Given the description of an element on the screen output the (x, y) to click on. 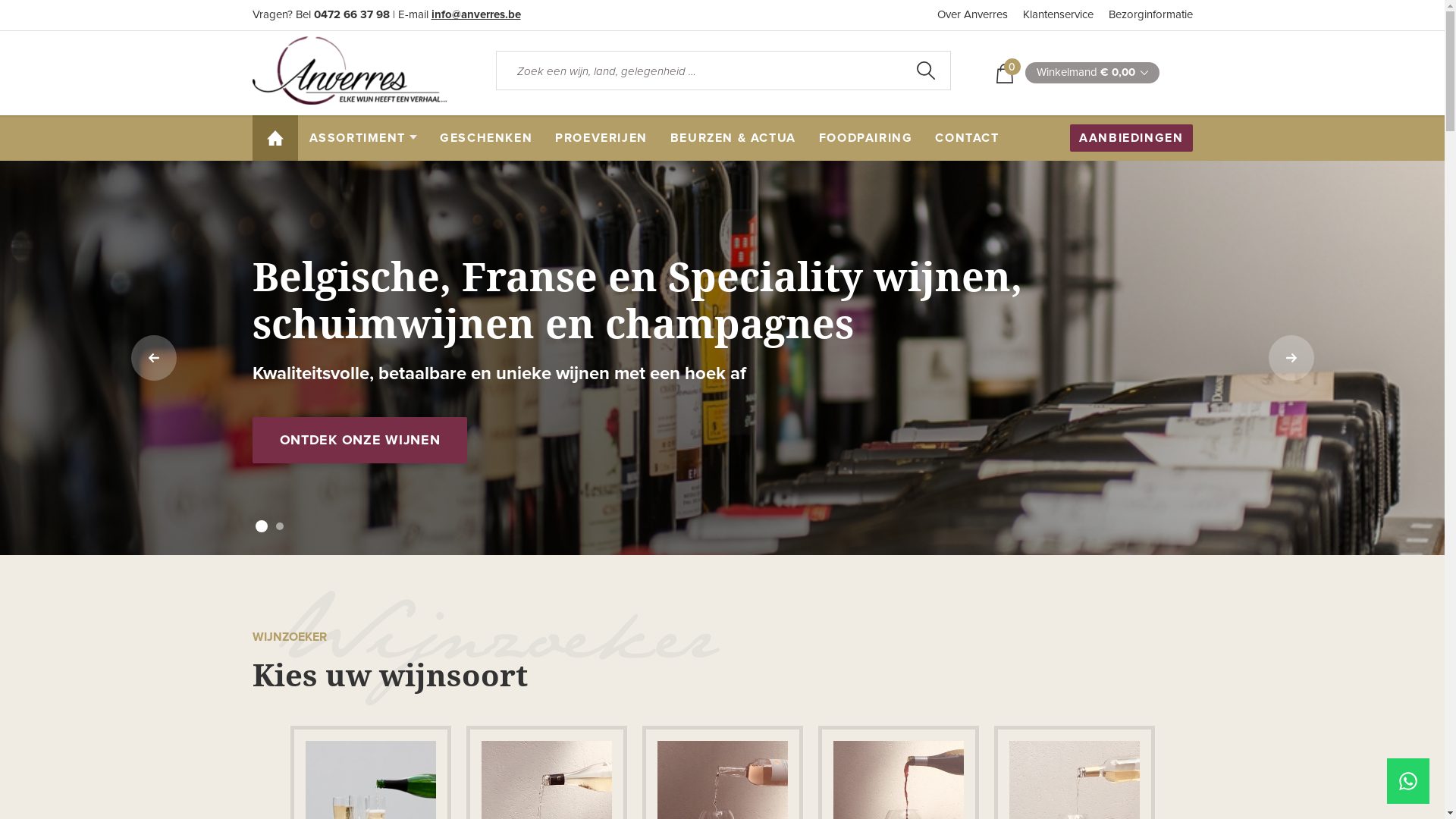
Over Anverres Element type: text (972, 15)
GESCHENKEN Element type: text (485, 137)
1 Element type: text (261, 526)
CONTACT Element type: text (966, 137)
PROEVERIJEN Element type: text (600, 137)
ONTDEK ONZE WIJNEN Element type: text (359, 440)
info@anverres.be Element type: text (475, 14)
FOODPAIRING Element type: text (865, 137)
HOME Element type: text (274, 137)
BEURZEN & ACTUA Element type: text (732, 137)
AANBIEDINGEN Element type: text (1131, 137)
Klantenservice Element type: text (1057, 15)
ASSORTIMENT Element type: text (362, 137)
2 Element type: text (279, 526)
Bezorginformatie Element type: text (1150, 15)
0472 66 37 98 Element type: text (351, 14)
